Given the description of an element on the screen output the (x, y) to click on. 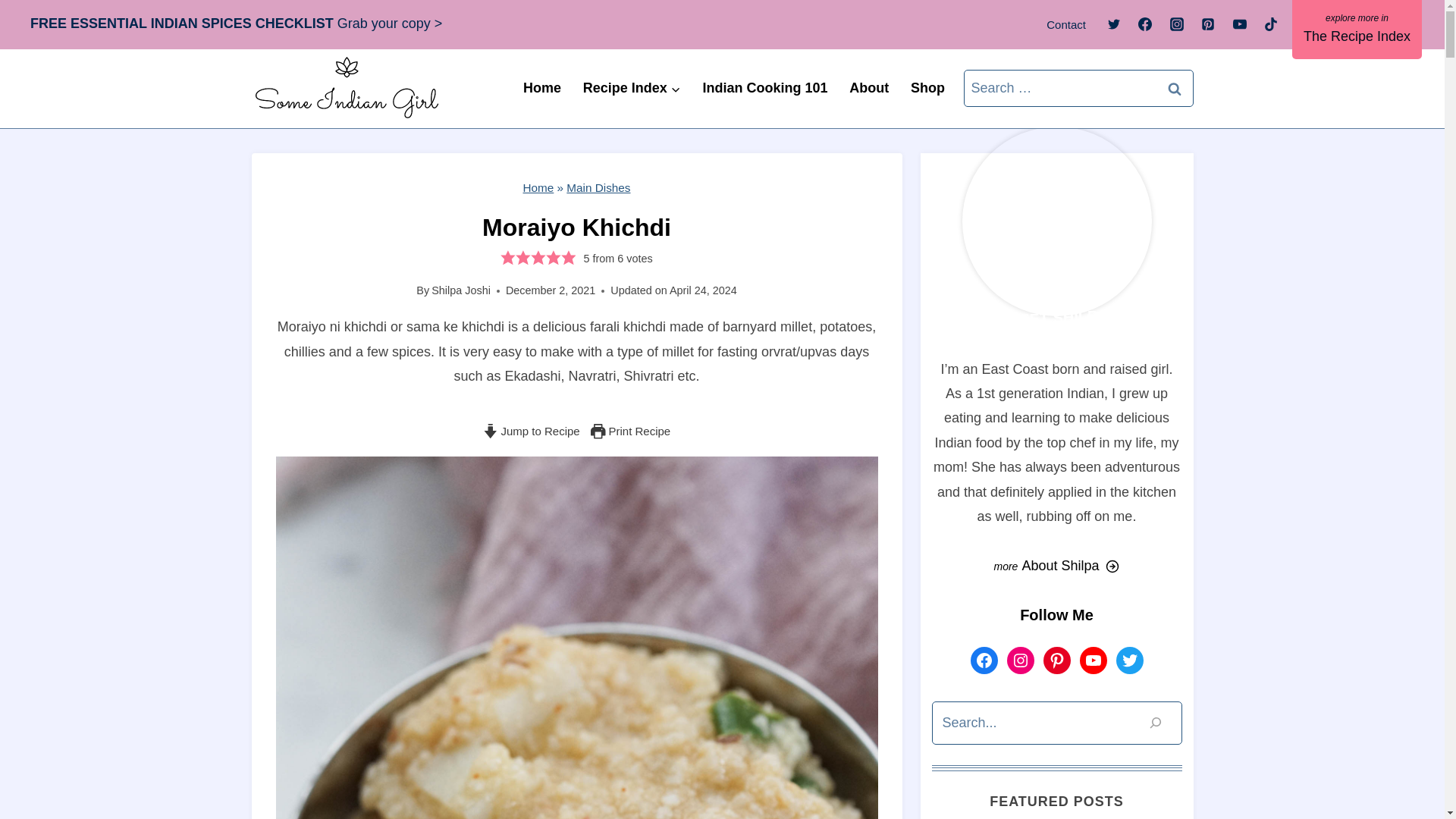
Recipe Index (631, 87)
Jump to Recipe (531, 431)
Search (1174, 88)
Shop (927, 87)
Indian Cooking 101 (764, 87)
The Recipe Index (1357, 29)
FREE ESSENTIAL INDIAN SPICES CHECKLIST (181, 23)
Search (1174, 88)
Home (542, 87)
Home (538, 187)
Contact (1066, 24)
About (868, 87)
Main Dishes (598, 187)
Shilpa Joshi (460, 290)
Search (1174, 88)
